Given the description of an element on the screen output the (x, y) to click on. 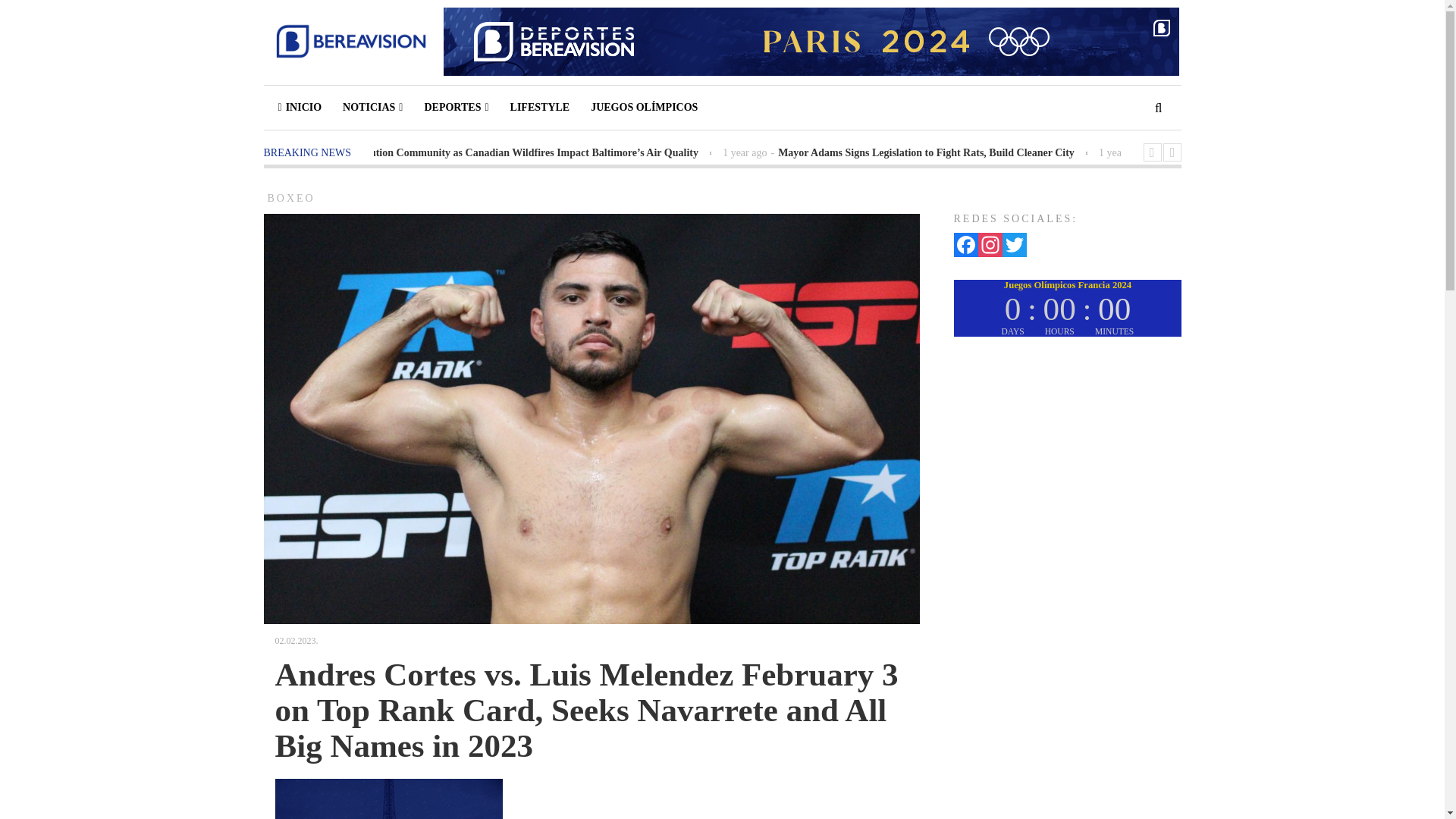
INICIO (298, 107)
DEPORTES (456, 107)
NOTICIAS (372, 107)
